Given the description of an element on the screen output the (x, y) to click on. 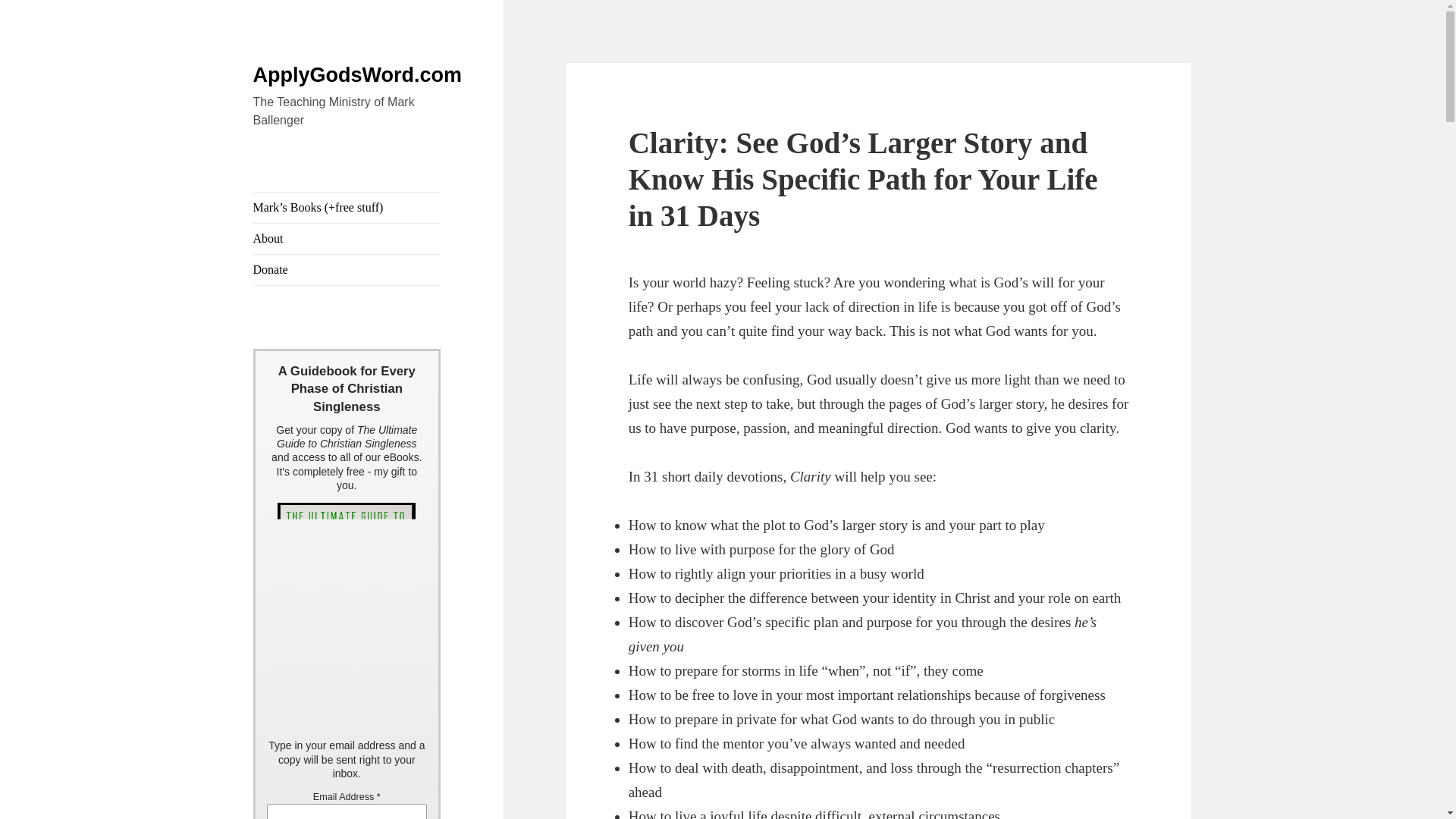
Donate (347, 269)
ApplyGodsWord.com (358, 74)
About (347, 238)
